Given the description of an element on the screen output the (x, y) to click on. 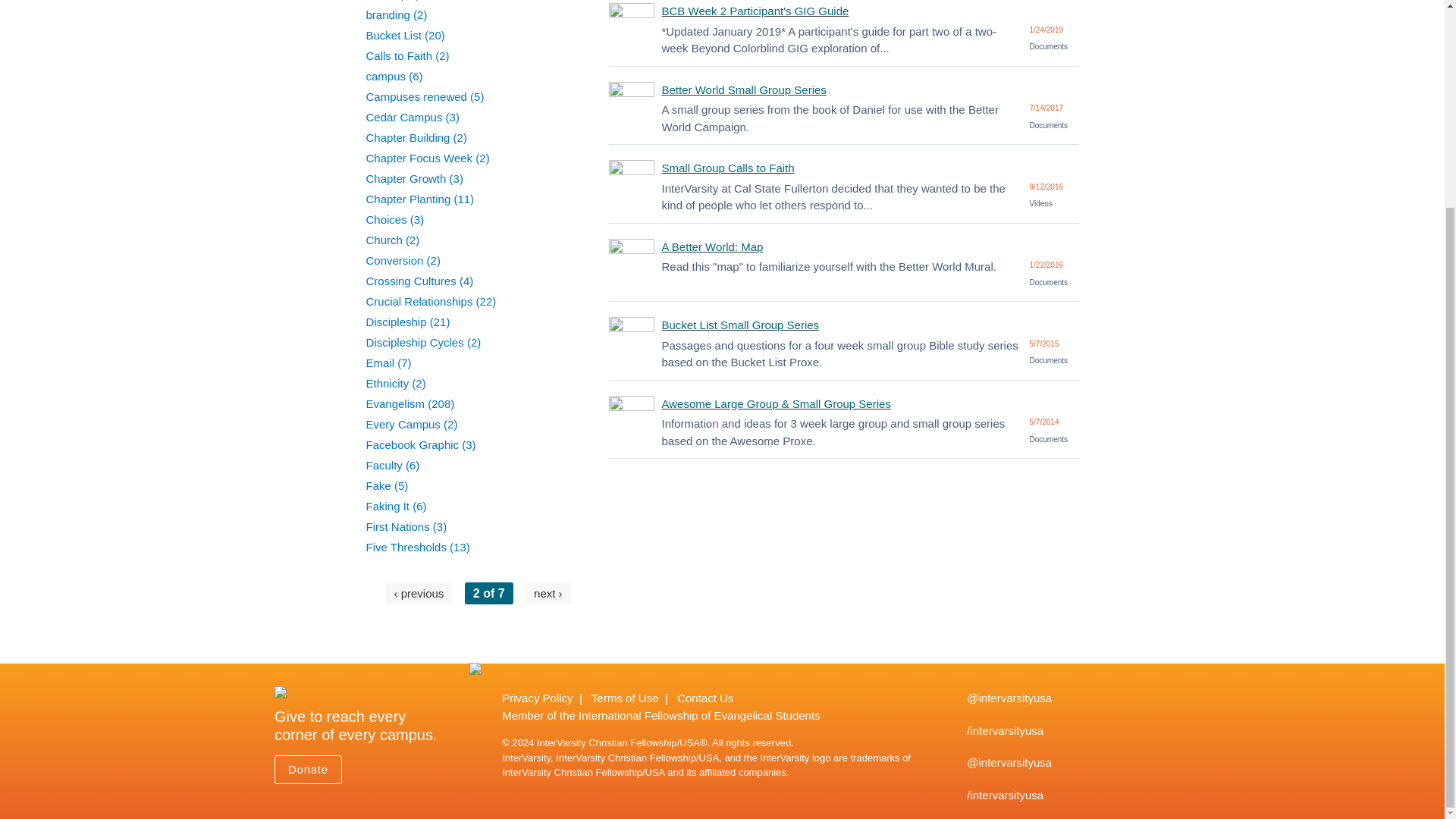
Documents (1048, 282)
Go to previous page (418, 593)
BCB Week 2 Participant's GIG Guide (755, 10)
A Better World: Map (712, 246)
Documents (1048, 46)
Small Group Calls to Faith (728, 167)
Documents (1048, 360)
Contact Us (705, 697)
Documents (1048, 125)
Go to next page (547, 593)
Bucket List Small Group Series (740, 324)
Better World Small Group Series (744, 89)
Videos (1040, 203)
